Given the description of an element on the screen output the (x, y) to click on. 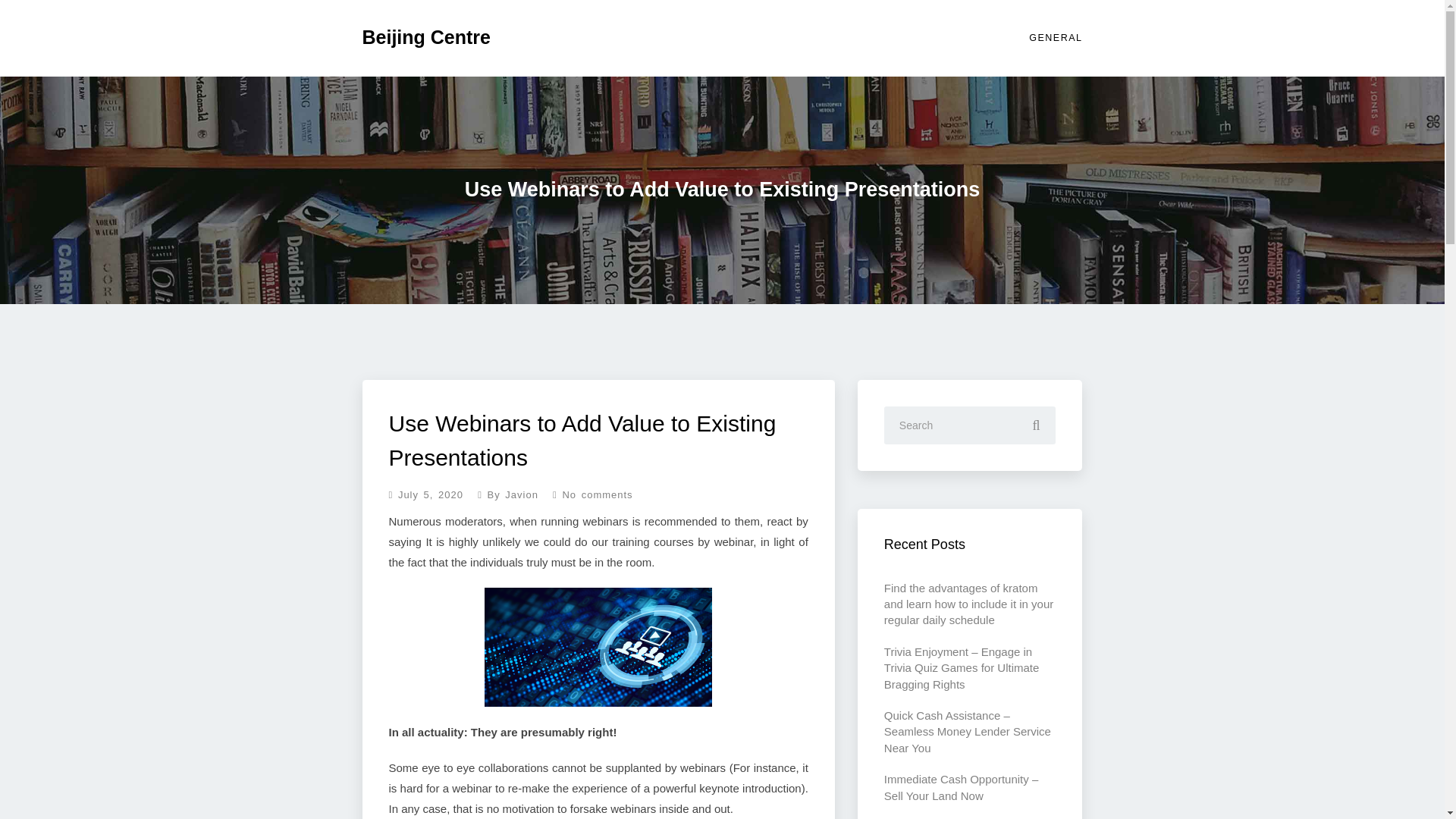
Beijing Centre (426, 39)
GENERAL (1053, 38)
No comments (587, 493)
